Given the description of an element on the screen output the (x, y) to click on. 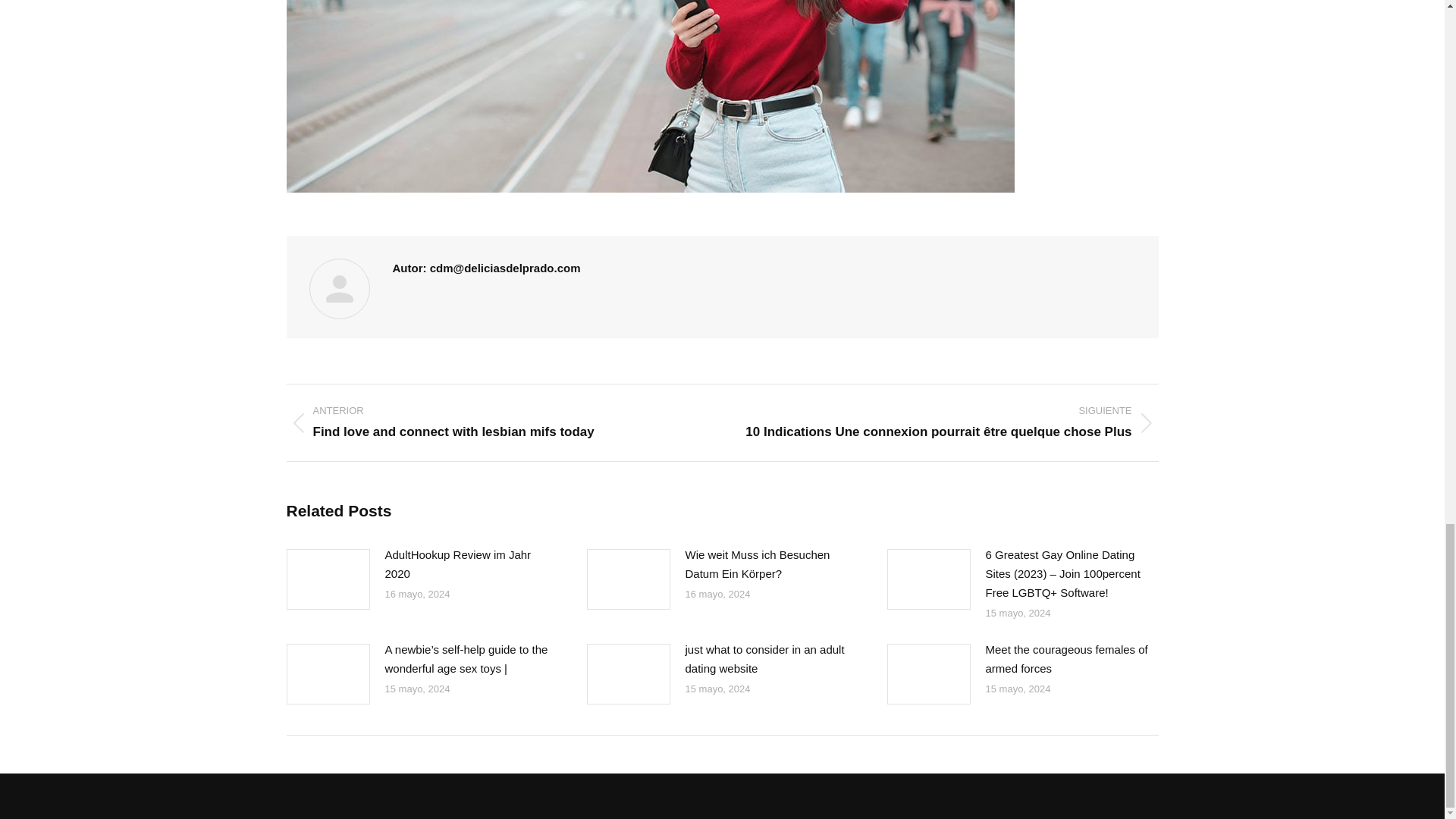
Meet the courageous females of armed forces (1067, 658)
just what to consider in an adult dating website (766, 658)
AdultHookup Review im Jahr 2020 (466, 564)
